Given the description of an element on the screen output the (x, y) to click on. 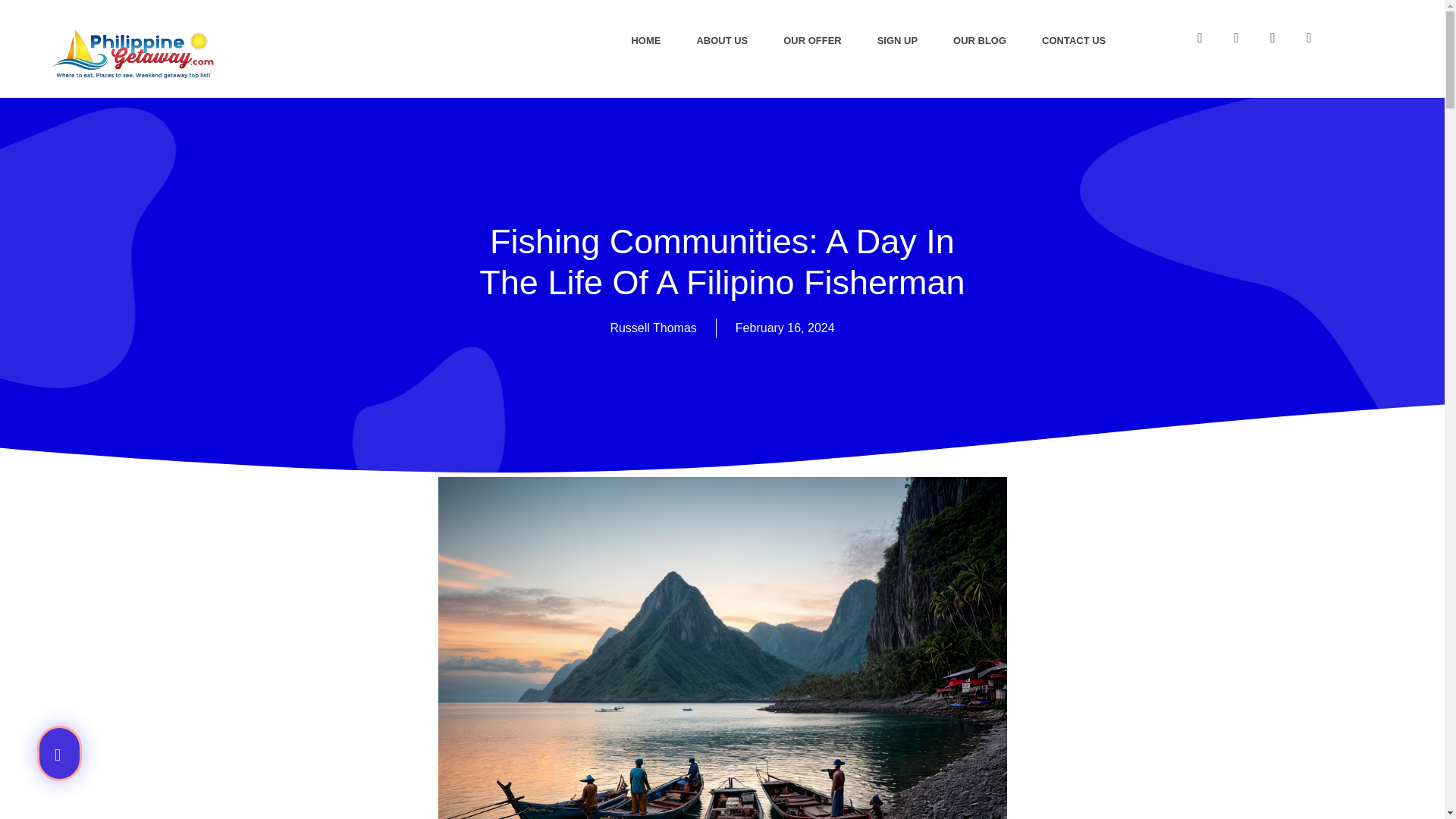
Russell Thomas (652, 328)
February 16, 2024 (784, 328)
SIGN UP (897, 15)
ABOUT US (722, 13)
OUR BLOG (979, 16)
HOME (646, 13)
CONTACT US (1073, 18)
OUR OFFER (813, 14)
